Given the description of an element on the screen output the (x, y) to click on. 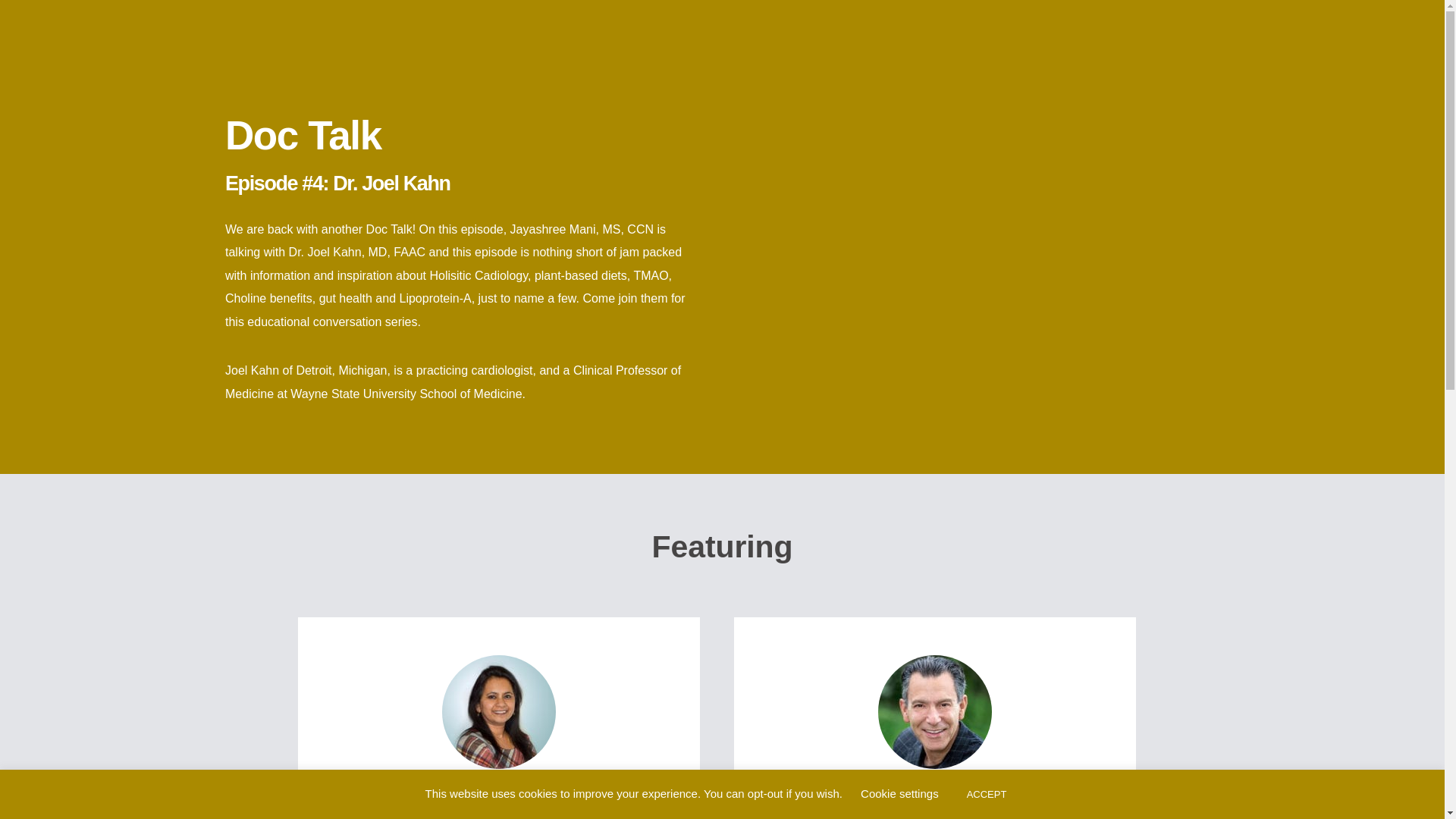
ACCEPT (987, 793)
Cookie settings (899, 793)
